Given the description of an element on the screen output the (x, y) to click on. 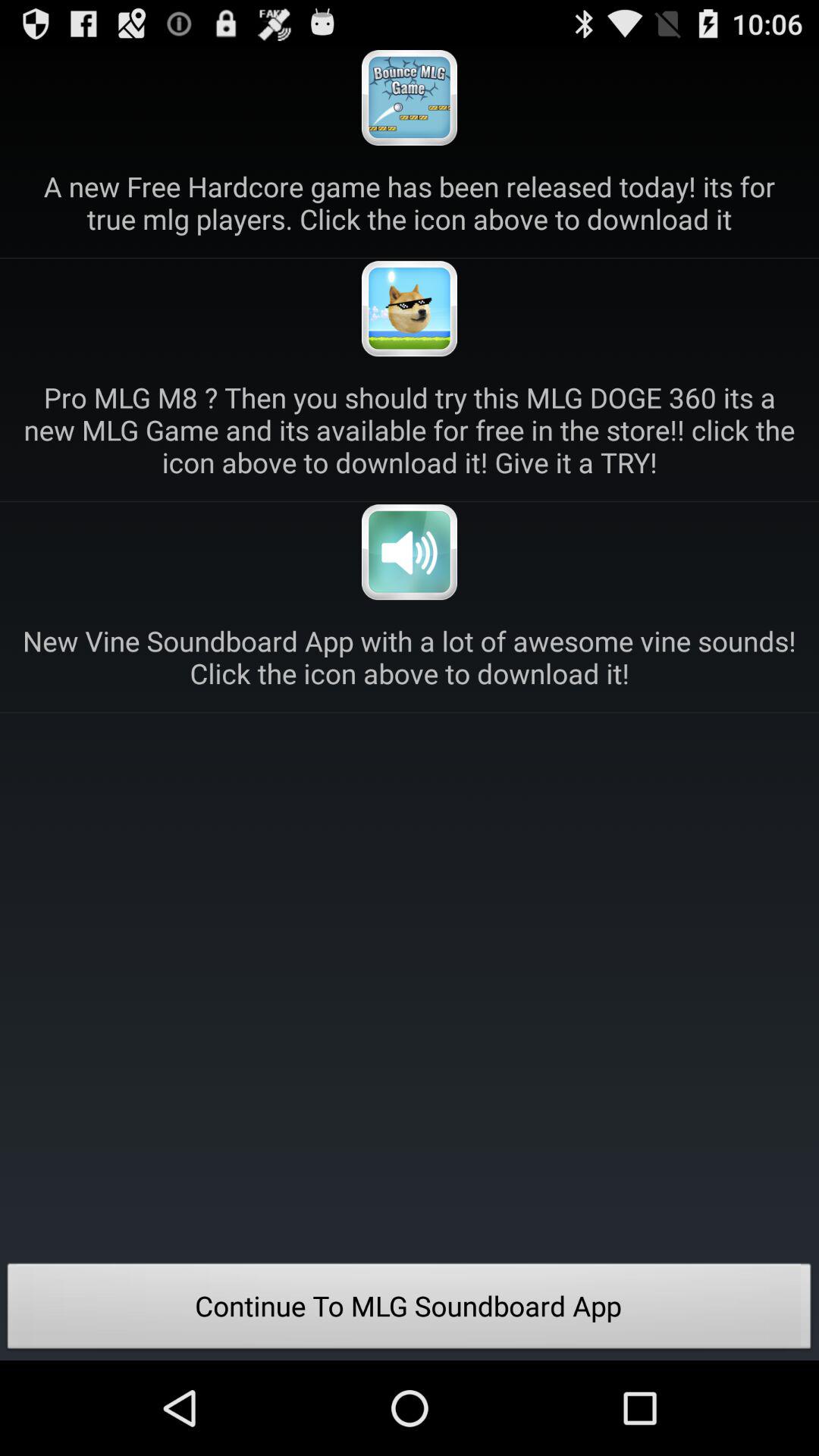
swipe until the pro mlg m8 item (409, 429)
